Given the description of an element on the screen output the (x, y) to click on. 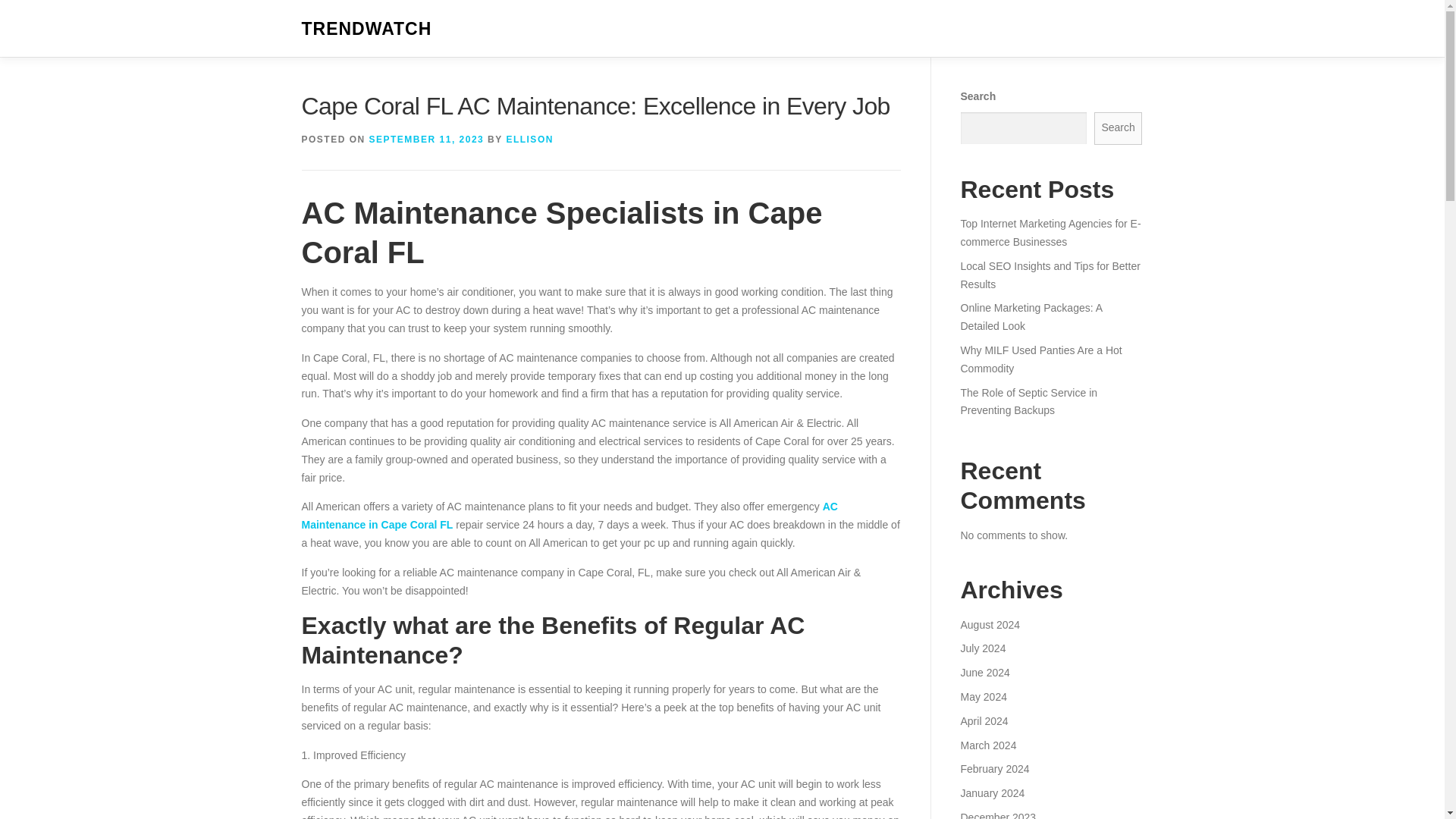
The Role of Septic Service in Preventing Backups (1028, 401)
Why MILF Used Panties Are a Hot Commodity (1040, 358)
AC Maintenance in Cape Coral FL (569, 515)
May 2024 (982, 696)
Local SEO Insights and Tips for Better Results (1049, 275)
SEPTEMBER 11, 2023 (426, 139)
March 2024 (987, 744)
December 2023 (997, 815)
June 2024 (984, 672)
Top Internet Marketing Agencies for E-commerce Businesses (1049, 232)
Search (1118, 128)
April 2024 (983, 720)
ELLISON (529, 139)
Online Marketing Packages: A Detailed Look (1030, 317)
July 2024 (982, 648)
